Given the description of an element on the screen output the (x, y) to click on. 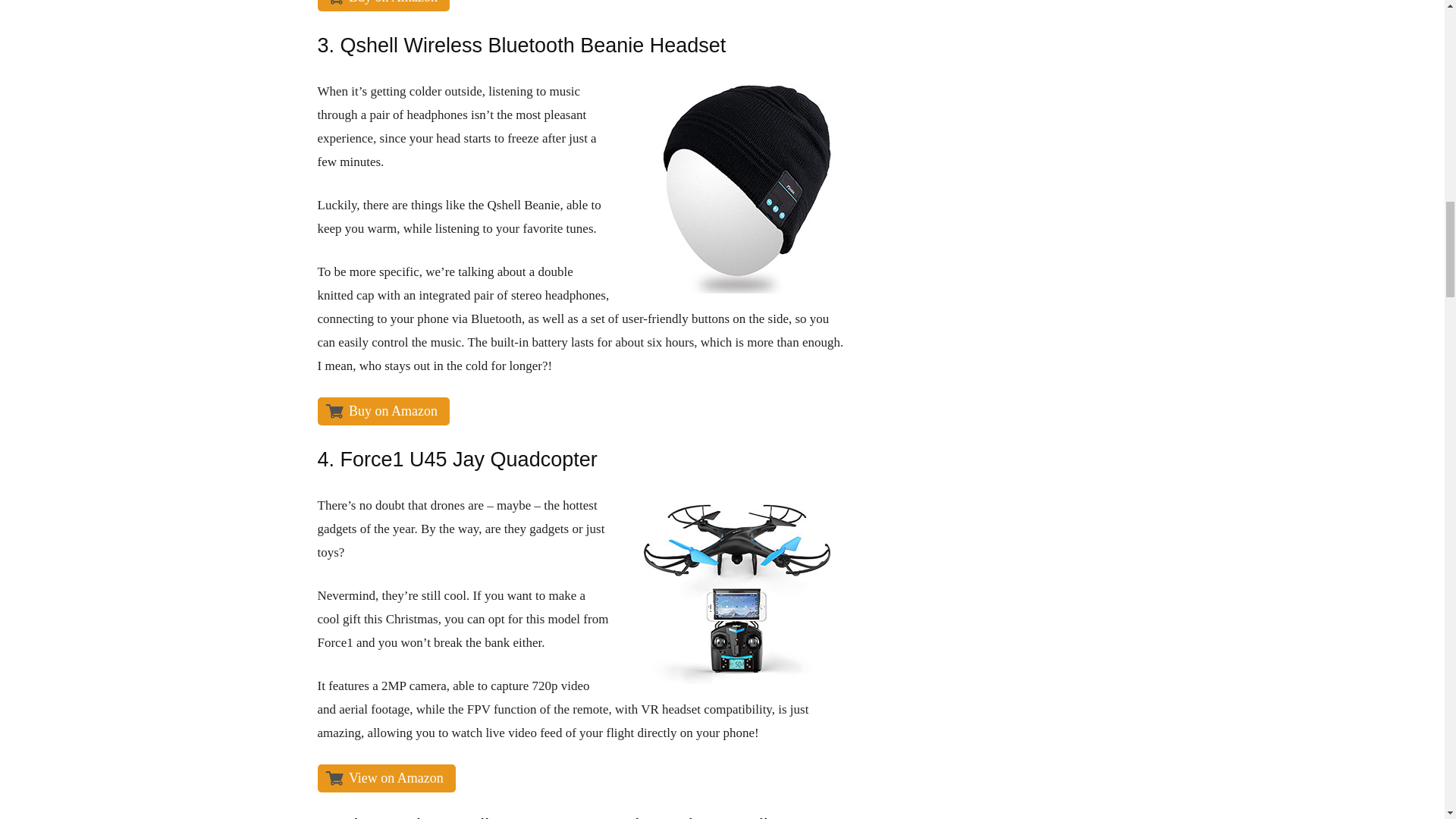
View on Amazon (385, 778)
Buy on Amazon (383, 411)
Buy on Amazon (383, 5)
